Given the description of an element on the screen output the (x, y) to click on. 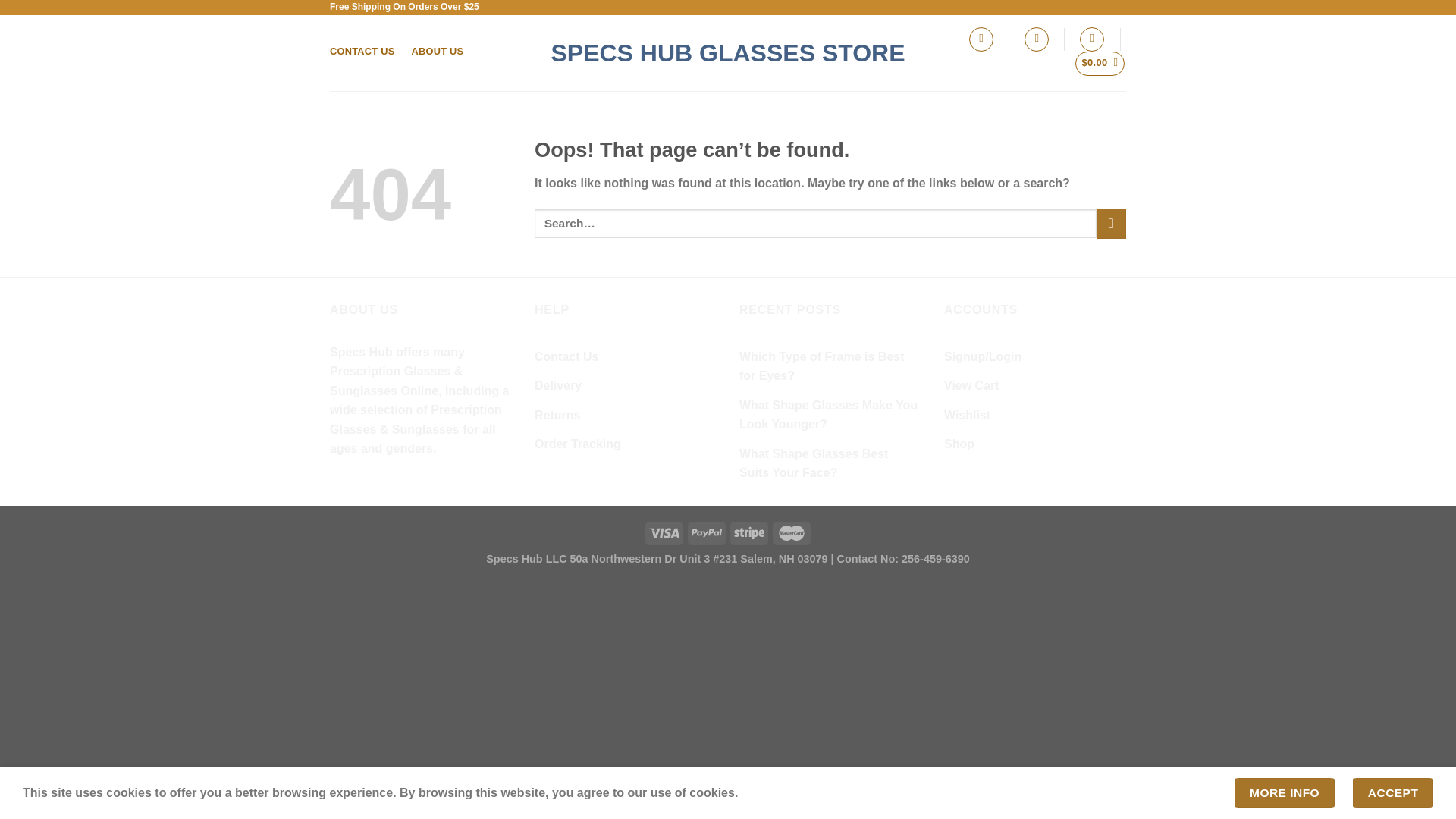
Delivery (557, 385)
What Shape Glasses Best Suits Your Face? (830, 463)
CONTACT US (362, 50)
Wishlist (966, 415)
What Shape Glasses Make You Look Younger? (830, 414)
Shop (958, 443)
Returns (556, 415)
View Cart (970, 385)
Basket (1100, 63)
Specs Hub Glasses Store (728, 52)
